Given the description of an element on the screen output the (x, y) to click on. 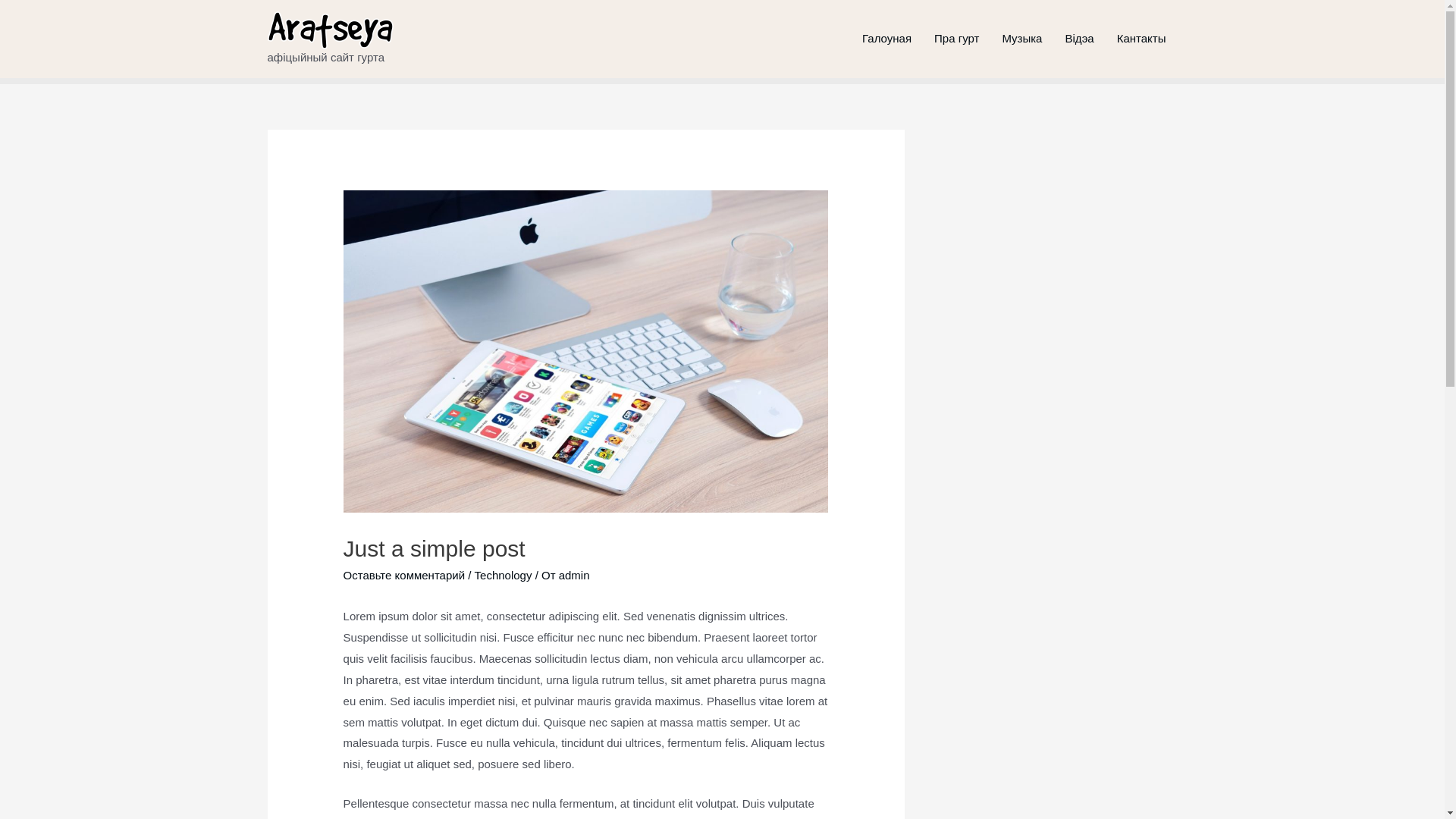
admin Element type: text (573, 574)
Technology Element type: text (503, 574)
